Given the description of an element on the screen output the (x, y) to click on. 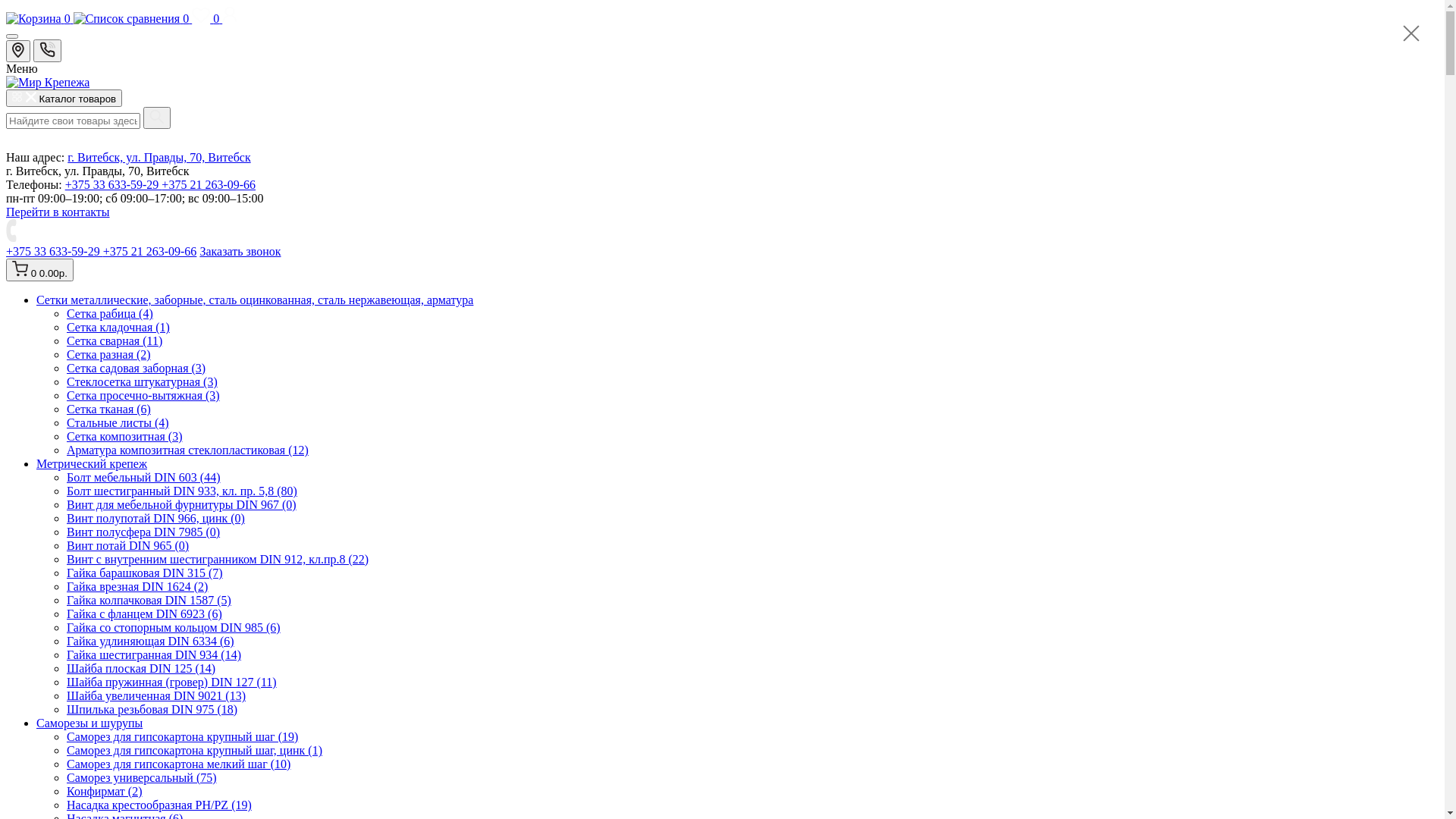
+375 21 263-09-66 Element type: text (208, 184)
account Element type: hover (229, 18)
+375 21 263-09-66 Element type: text (150, 250)
0 Element type: text (206, 18)
0 Element type: text (39, 18)
+375 33 633-59-29 Element type: text (54, 250)
0 Element type: text (132, 18)
+375 33 633-59-29 Element type: text (113, 184)
